Given the description of an element on the screen output the (x, y) to click on. 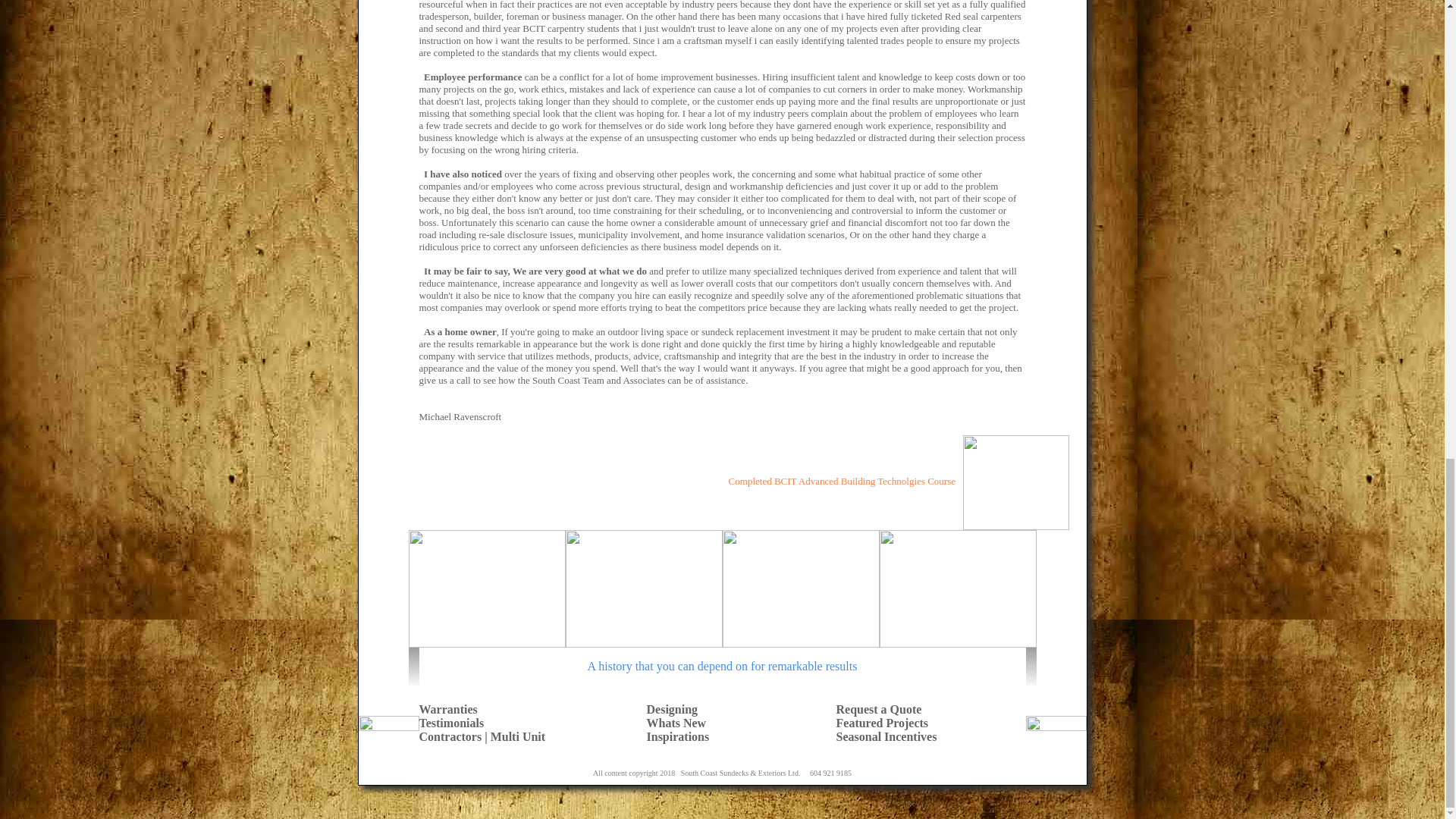
Featured Projects (881, 722)
Testimonials (451, 722)
Whats New (676, 722)
Seasonal Incentives (885, 736)
Designing (671, 708)
Warranties (448, 708)
Inspirations (677, 736)
Request a Quote (878, 708)
